Given the description of an element on the screen output the (x, y) to click on. 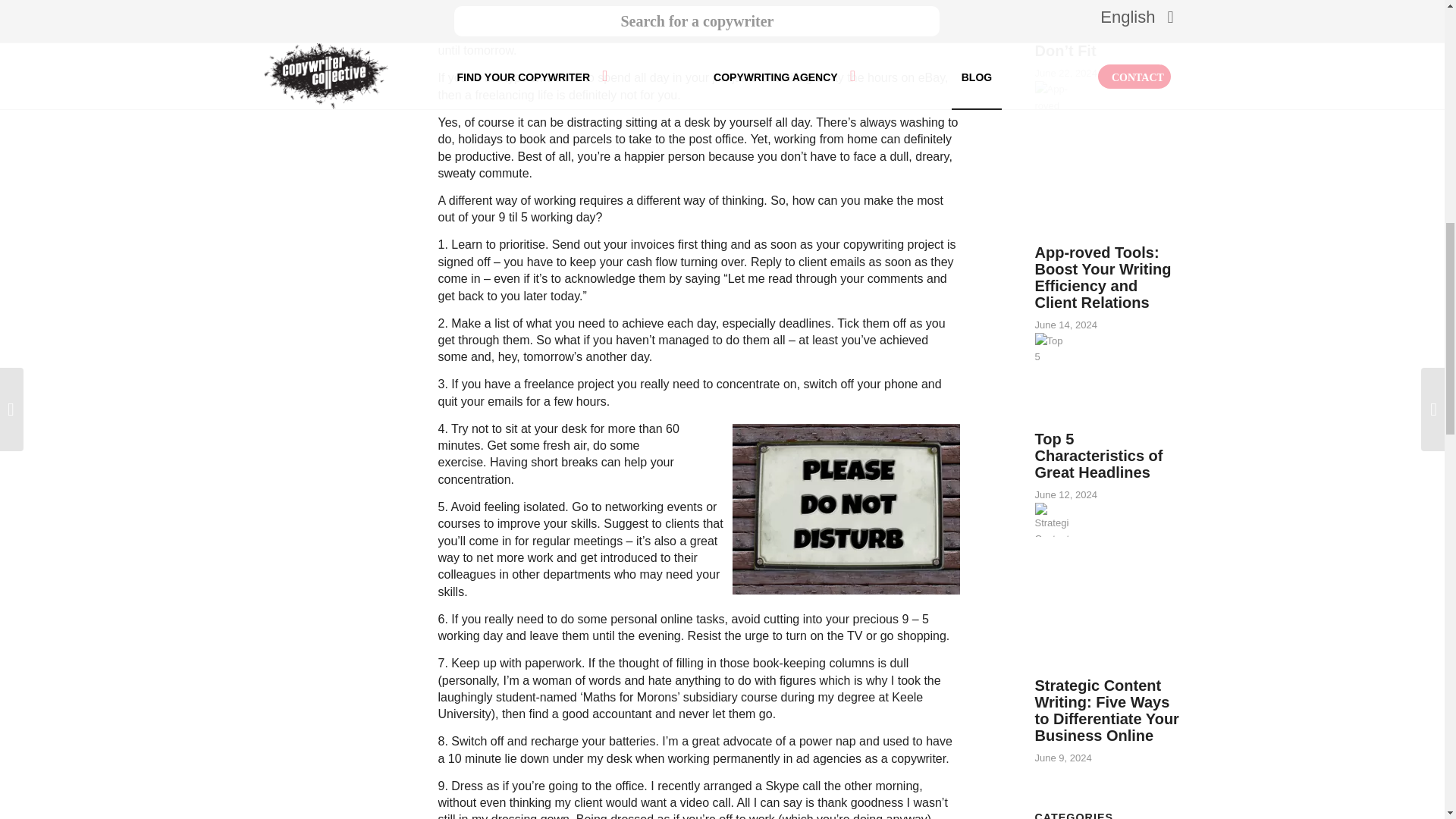
Top 5 Characteristics of Great Headlines (1097, 455)
